Given the description of an element on the screen output the (x, y) to click on. 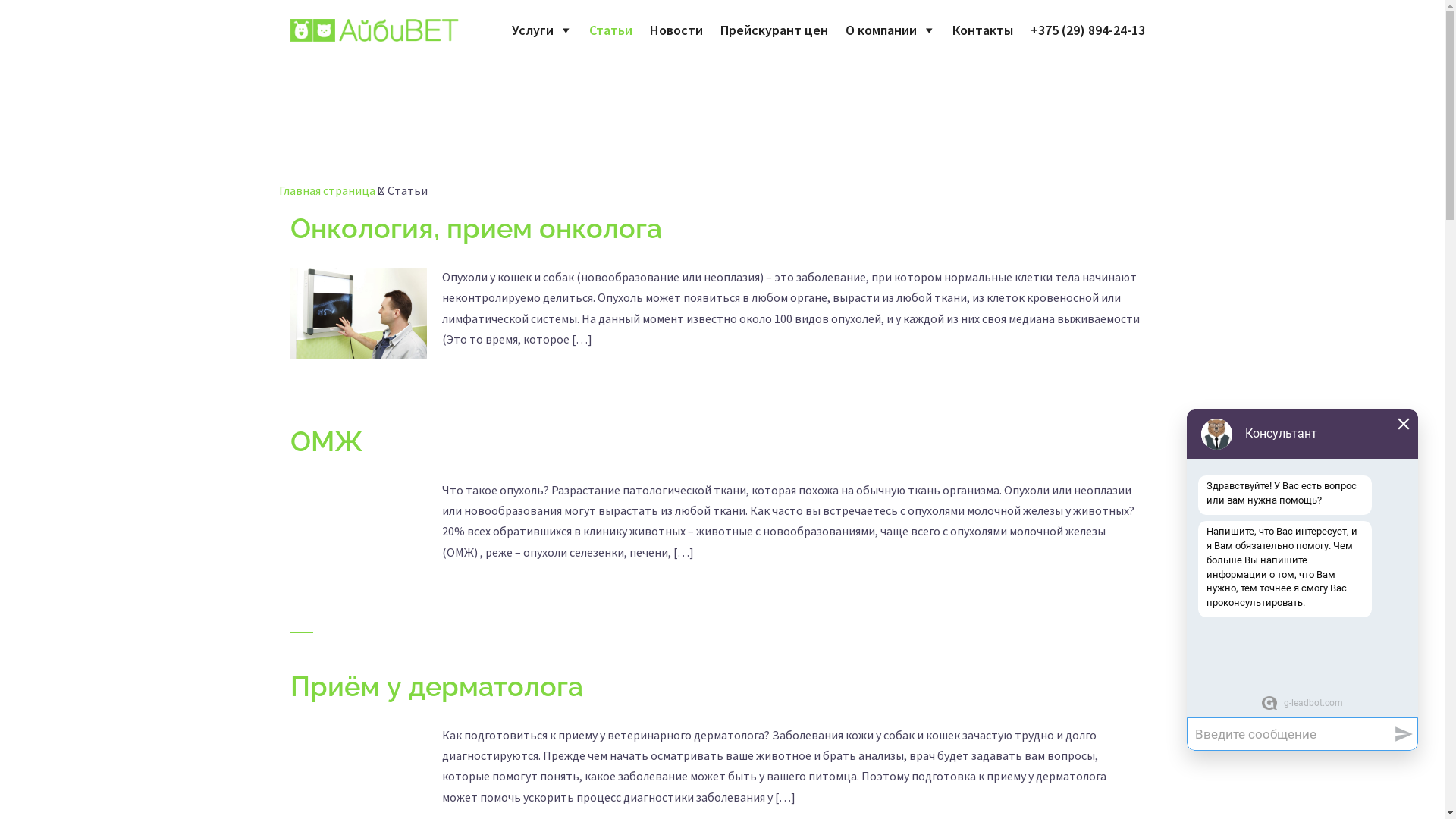
Skip to content Element type: text (0, 0)
+375 (29) 894-24-13 Element type: text (1086, 30)
